Given the description of an element on the screen output the (x, y) to click on. 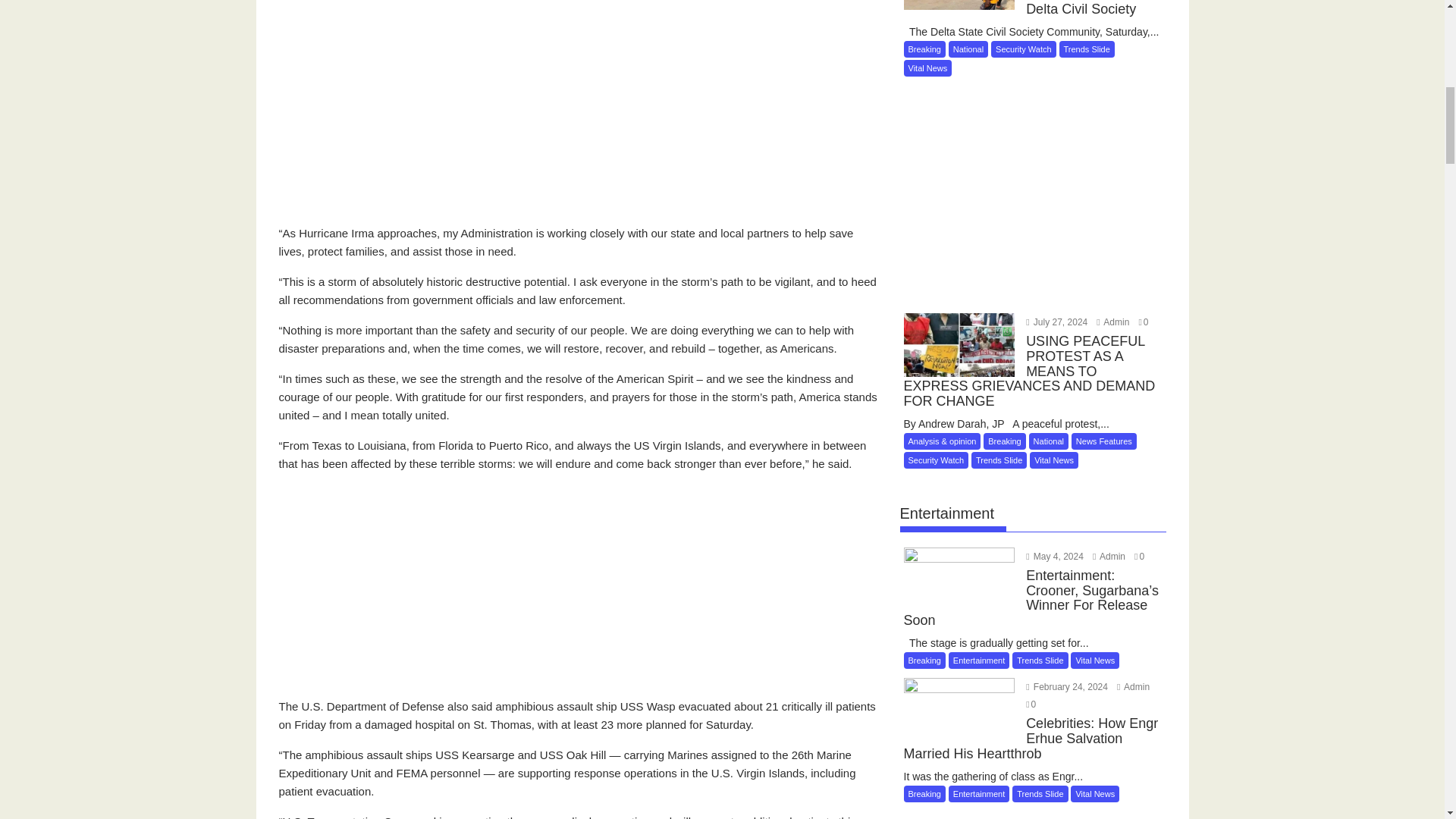
Advertisement (580, 118)
Advertisement (580, 591)
